Given the description of an element on the screen output the (x, y) to click on. 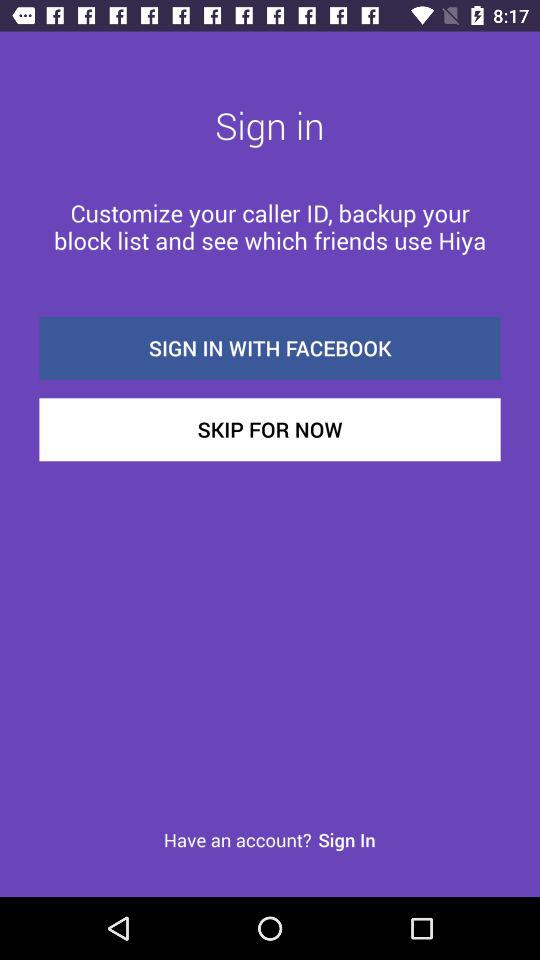
open the skip for now (269, 429)
